Given the description of an element on the screen output the (x, y) to click on. 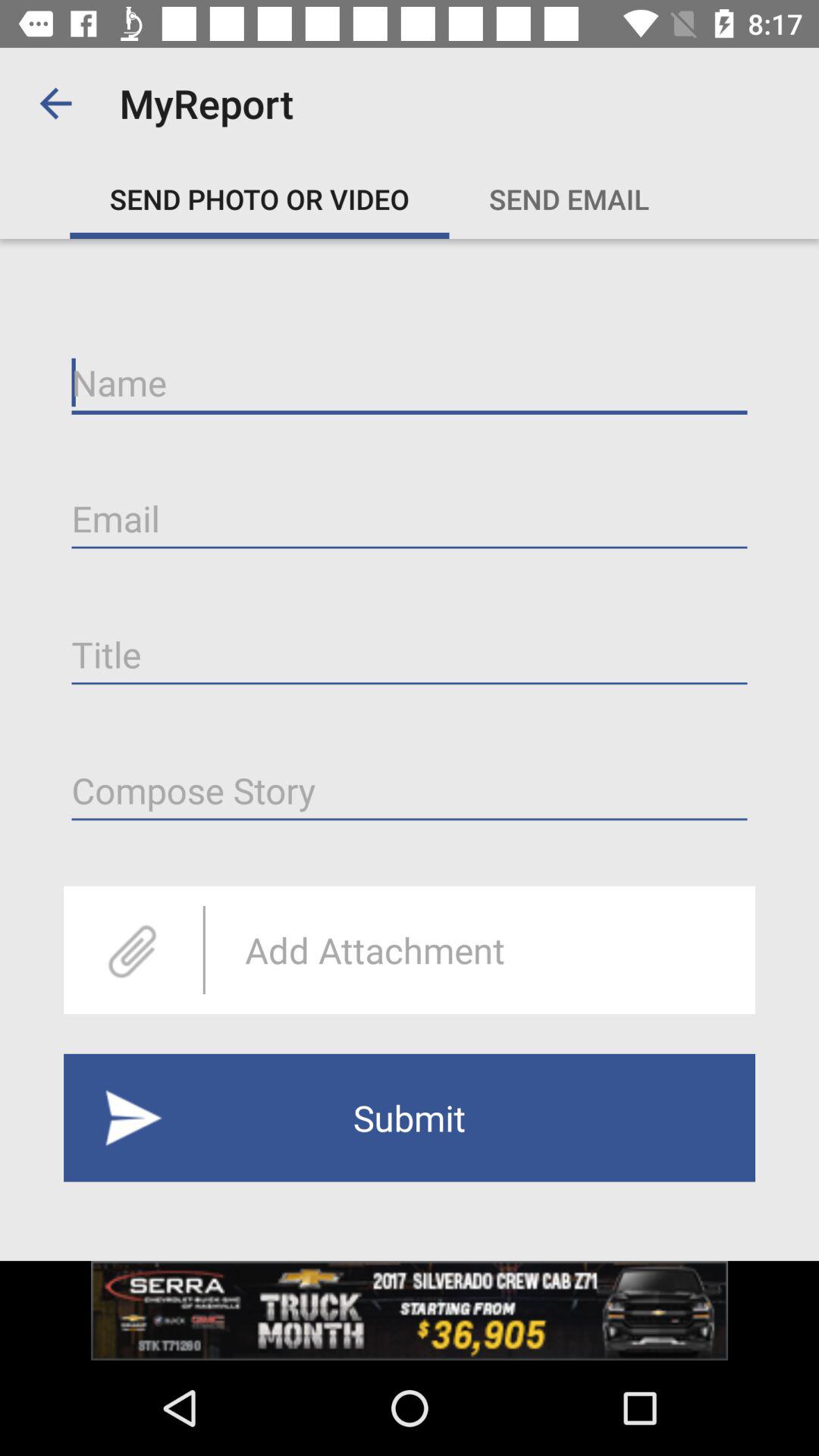
enables text input (409, 383)
